Given the description of an element on the screen output the (x, y) to click on. 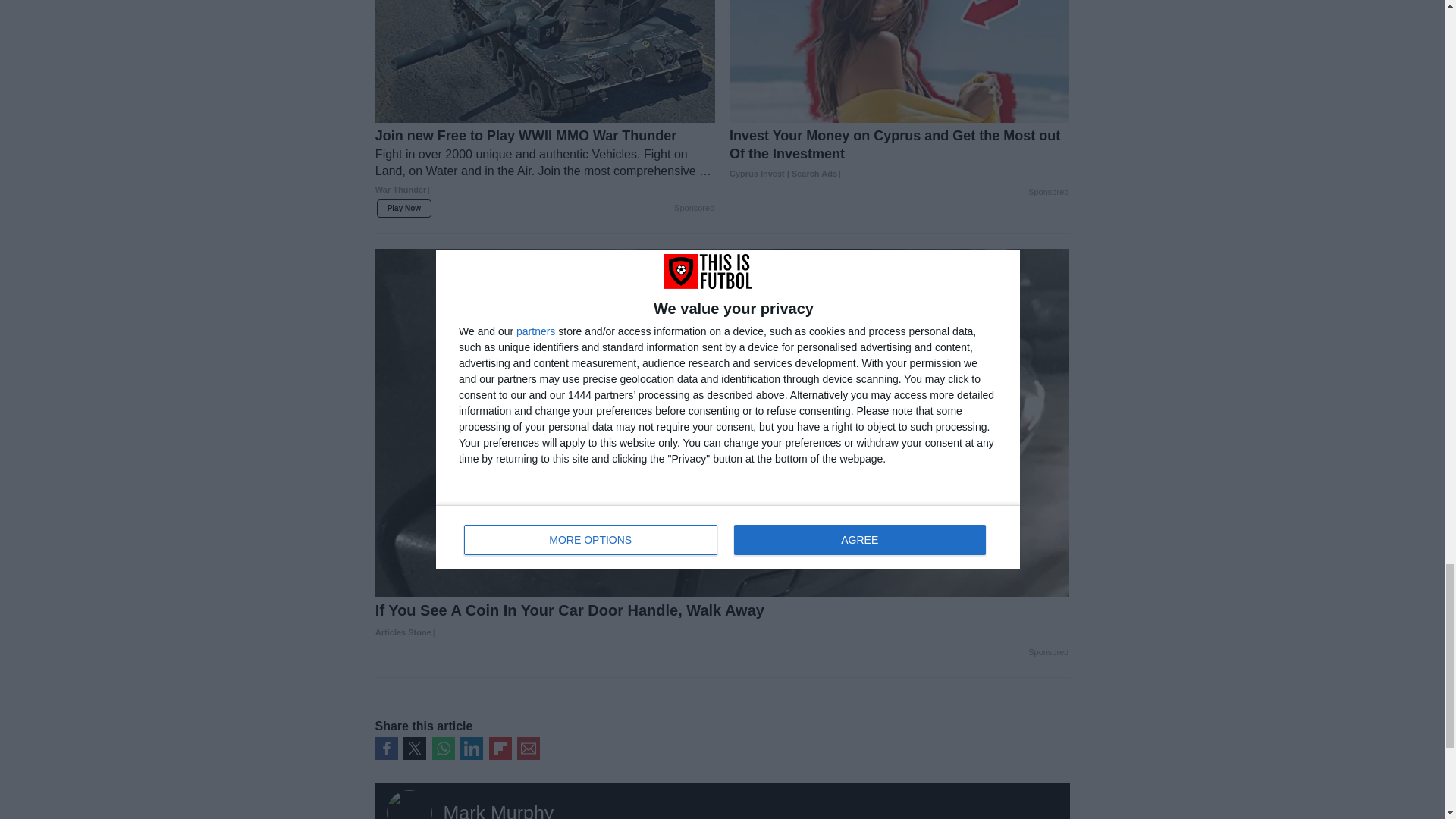
Join new Free to Play WWII MMO War Thunder (544, 61)
Join new Free to Play WWII MMO War Thunder (544, 169)
